Given the description of an element on the screen output the (x, y) to click on. 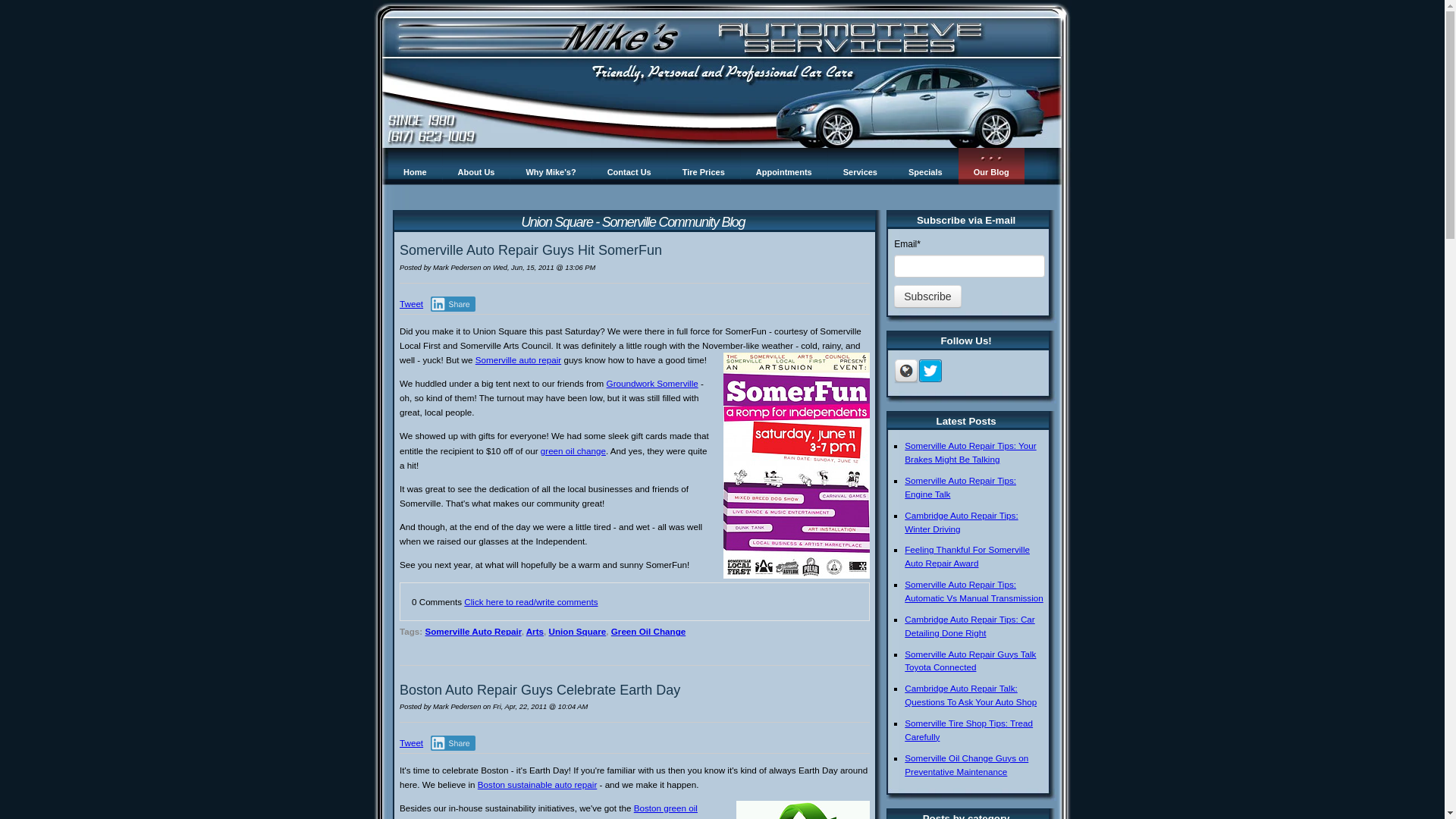
Why Mike's? (551, 166)
Home (415, 166)
Boston sustainable auto repair (536, 784)
Follow us on Twitter (930, 371)
About Us (476, 166)
Services (860, 166)
Boston green oil change (547, 811)
Contact Us (629, 166)
green oil change (572, 450)
Appointments (784, 166)
Somerville auto repair (518, 359)
Tire Prices (702, 166)
Groundwork Somerville (652, 383)
Subscribe (926, 296)
